Given the description of an element on the screen output the (x, y) to click on. 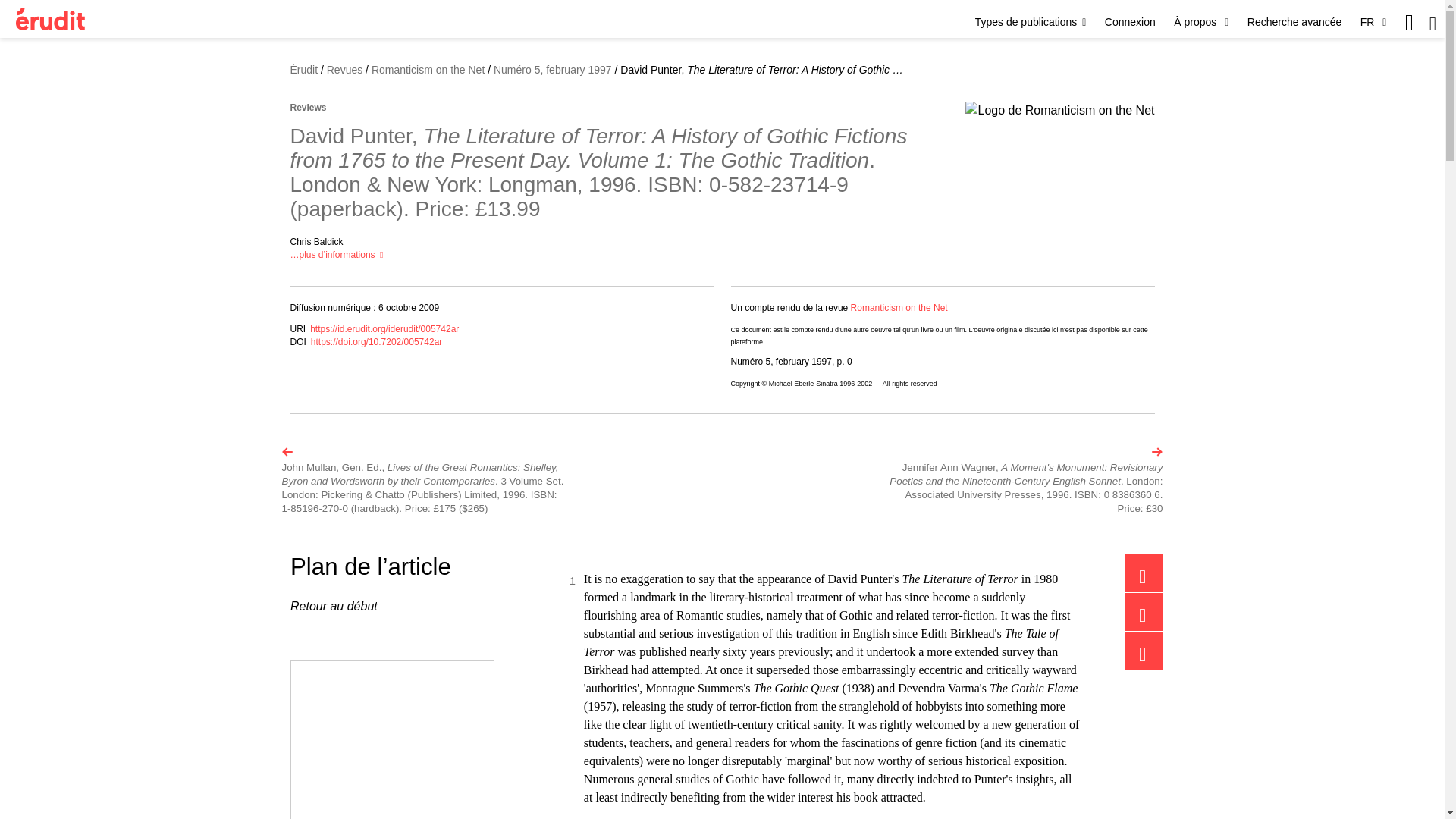
Se connecter au tableau de bord (1130, 21)
Revues (344, 69)
Rapport annuel 2022-2023 (392, 739)
Article suivant (1021, 480)
Romanticism on the Net (898, 307)
Connexion (1130, 21)
Types de publications (1030, 21)
Romanticism on the Net (427, 69)
